Given the description of an element on the screen output the (x, y) to click on. 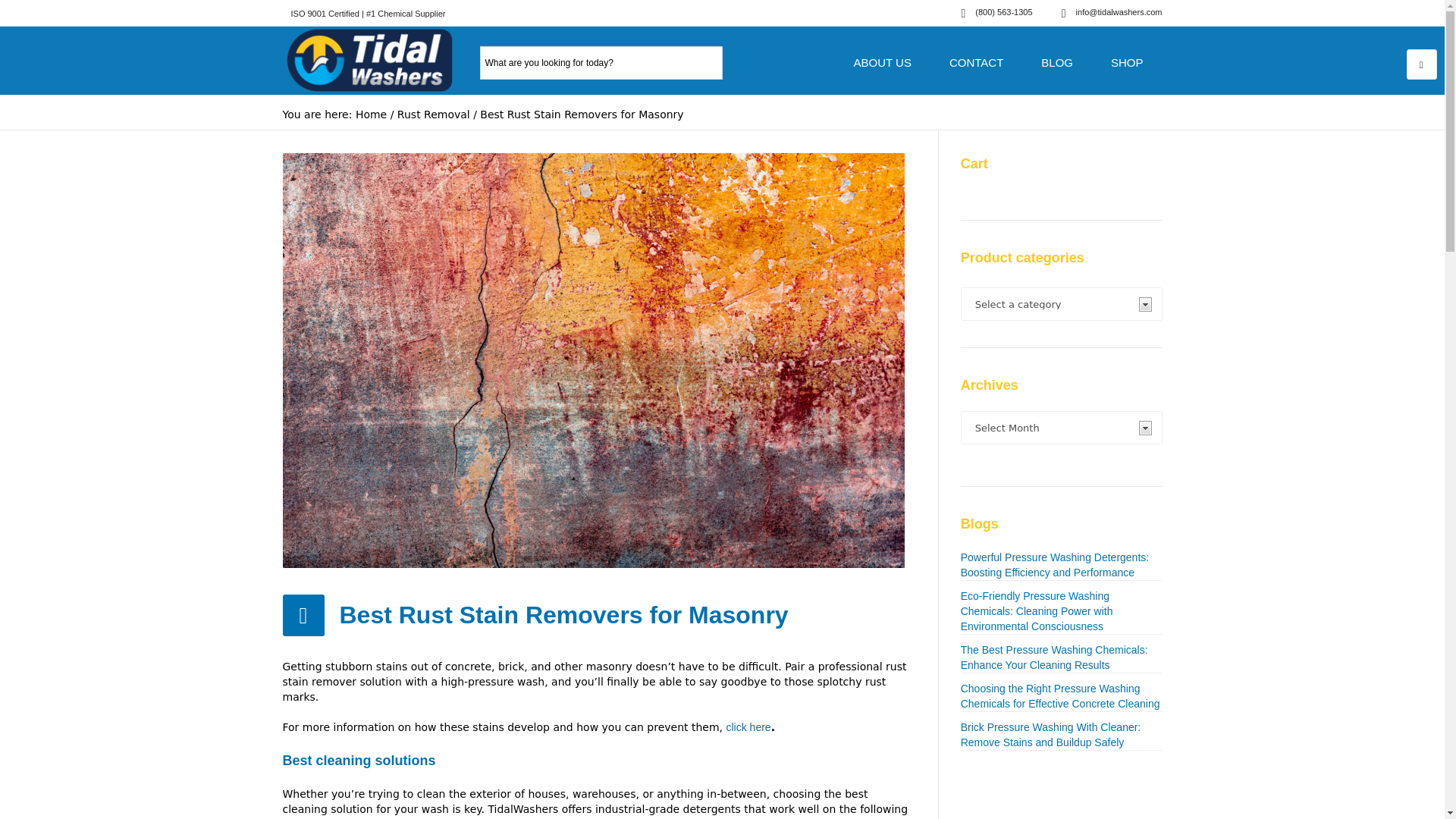
Rust Removal (433, 114)
SHOP (1126, 62)
ABOUT US (882, 62)
CONTACT (976, 62)
click here (748, 727)
BLOG (1057, 62)
Home (371, 114)
Best Rust Stain Removers for Masonry (593, 358)
